Given the description of an element on the screen output the (x, y) to click on. 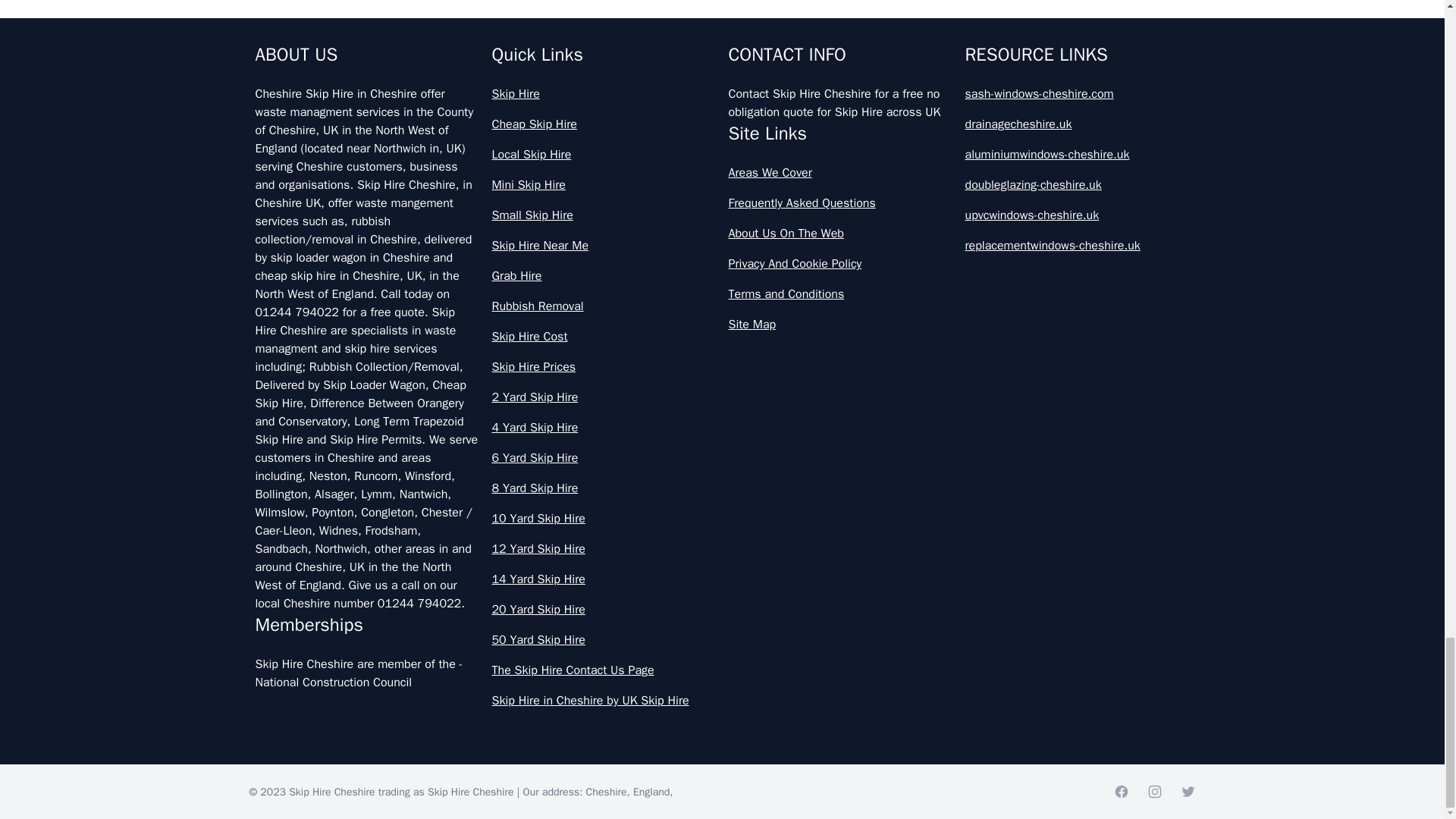
aluminiumwindows-cheshire.uk (1076, 154)
Site Map (840, 324)
doubleglazing-cheshire.uk (1076, 185)
How Much Is Grab Lorry Hire In Cheshire (722, 15)
Is Grab Hire Cheaper Than A Skip In Cheshire (722, 140)
drainagecheshire.uk (1076, 124)
replacementwindows-cheshire.uk (1076, 245)
sash-windows-cheshire.com (1076, 94)
Skip Hire in Cheshire by UK Skip Hire (604, 700)
upvcwindows-cheshire.uk (1076, 215)
